Given the description of an element on the screen output the (x, y) to click on. 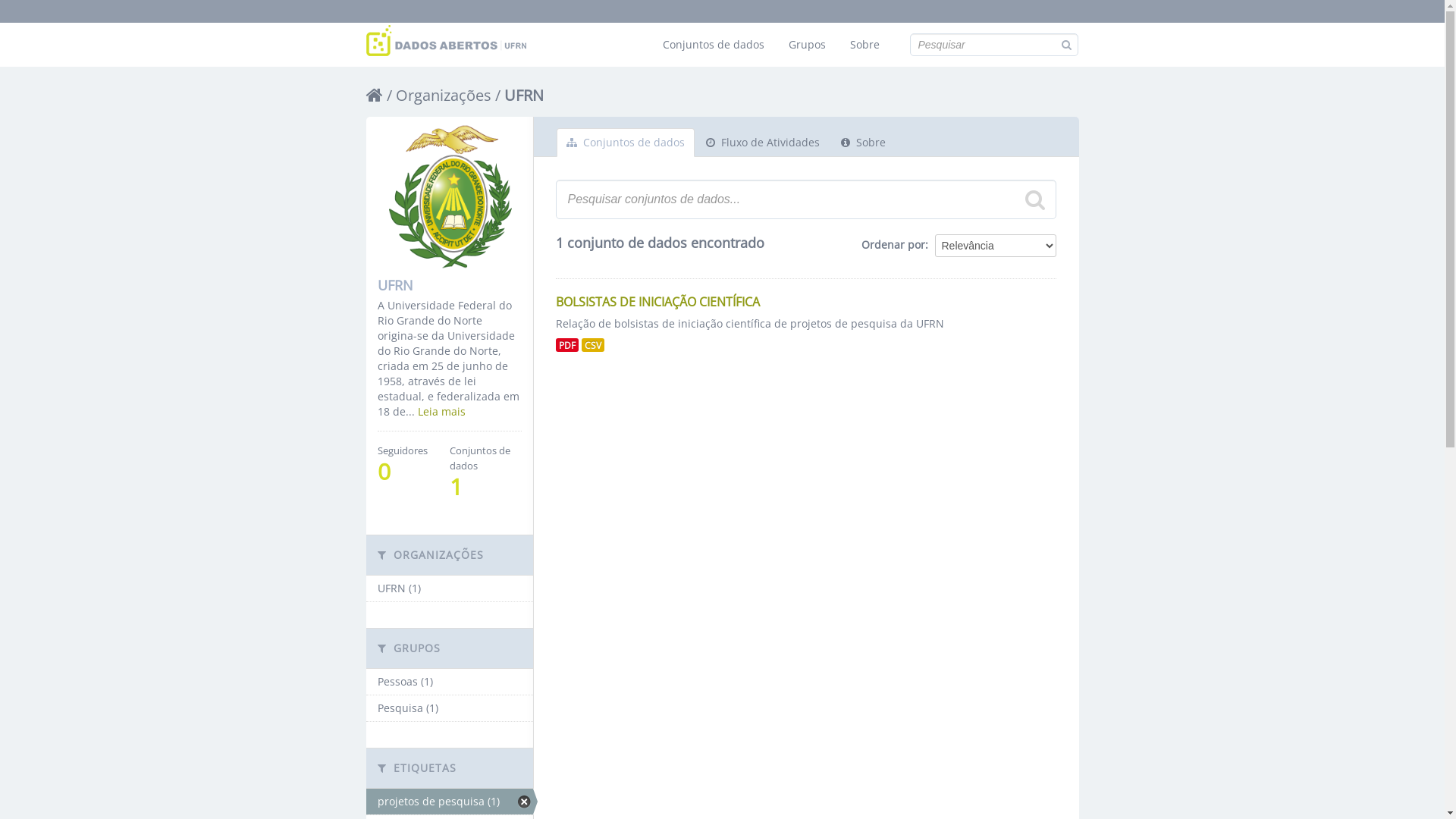
search Element type: text (1034, 199)
PDF Element type: text (566, 344)
Pesquisa (1) Element type: text (448, 708)
projetos de pesquisa (1) Element type: text (448, 801)
Sobre Element type: text (863, 142)
Grupos Element type: text (806, 44)
Dados Abertos da UFRN Element type: hover (445, 40)
Pessoas (1) Element type: text (448, 681)
Conjuntos de dados Element type: text (712, 44)
Sobre Element type: text (864, 44)
Fluxo de Atividades Element type: text (762, 142)
CSV Element type: text (591, 344)
Conjuntos de dados Element type: text (625, 142)
UFRN (1) Element type: text (448, 588)
UFRN Element type: text (522, 94)
Leia mais Element type: text (440, 411)
